Given the description of an element on the screen output the (x, y) to click on. 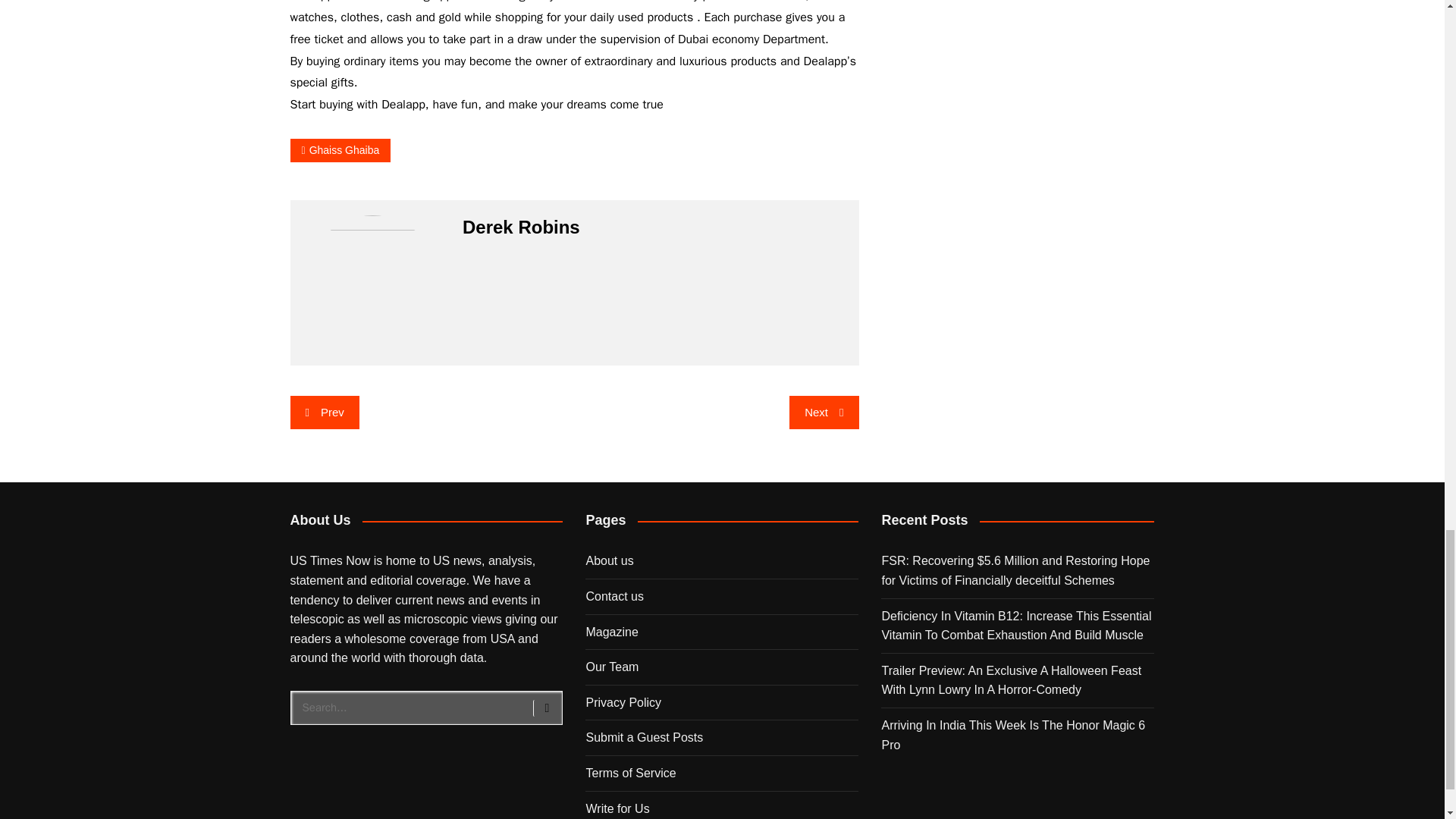
Magazine (611, 631)
Next (824, 412)
About us (609, 560)
Contact us (614, 595)
Prev (323, 412)
Ghaiss Ghaiba (339, 150)
